Given the description of an element on the screen output the (x, y) to click on. 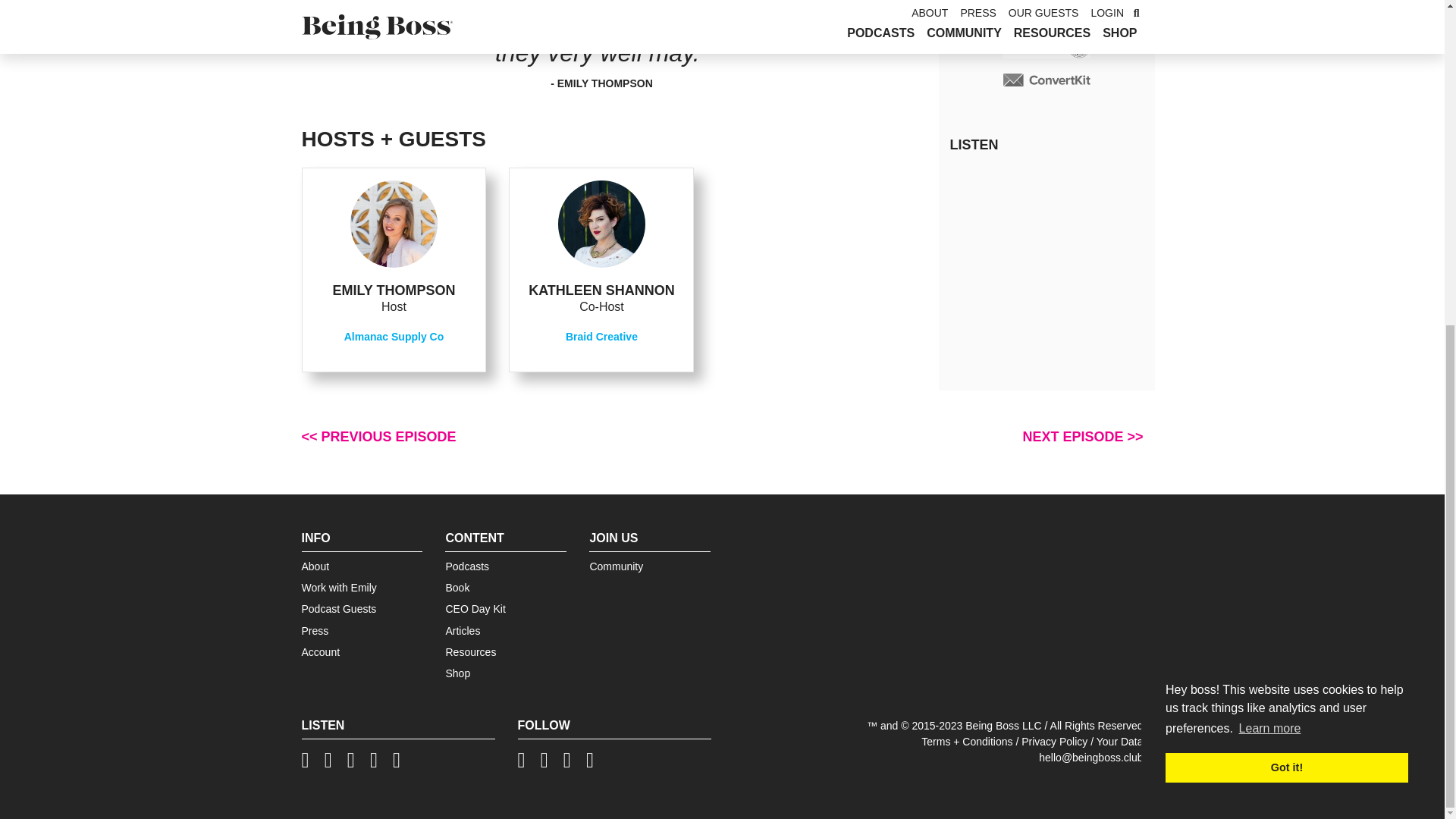
Podcast Guests (339, 608)
Learn more (1269, 196)
Almanac Supply Co (393, 336)
Work with Emily (339, 587)
Braid Creative (601, 336)
CEO Day Kit (475, 608)
Articles (462, 630)
Got it! (1286, 235)
Book (456, 587)
Podcasts (467, 566)
Press (315, 630)
Account (320, 652)
About (315, 566)
